Given the description of an element on the screen output the (x, y) to click on. 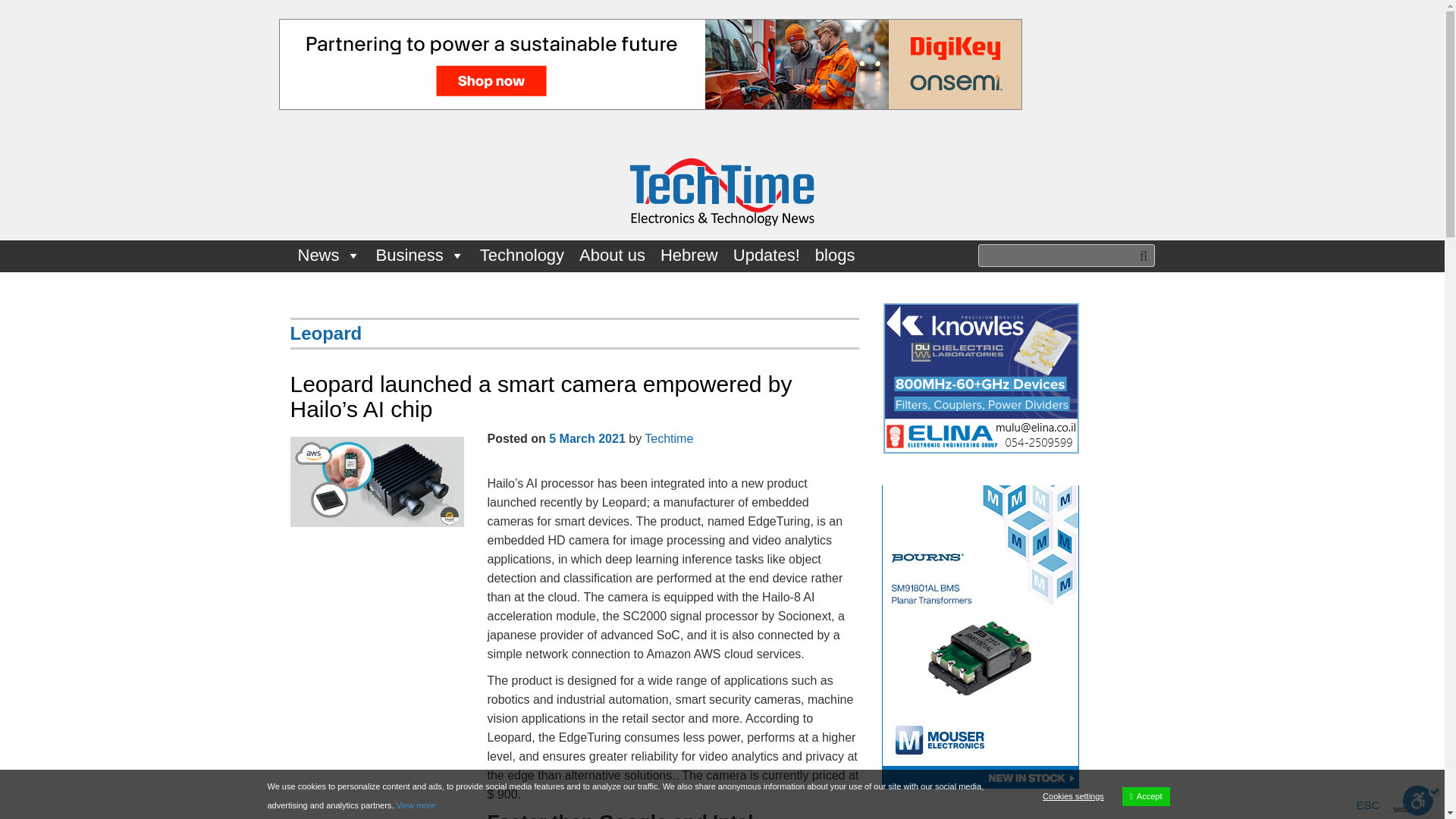
Technology (521, 255)
Hebrew (688, 255)
blogs (835, 255)
News (328, 255)
Business (419, 255)
Updates! (766, 255)
About us (612, 255)
